Given the description of an element on the screen output the (x, y) to click on. 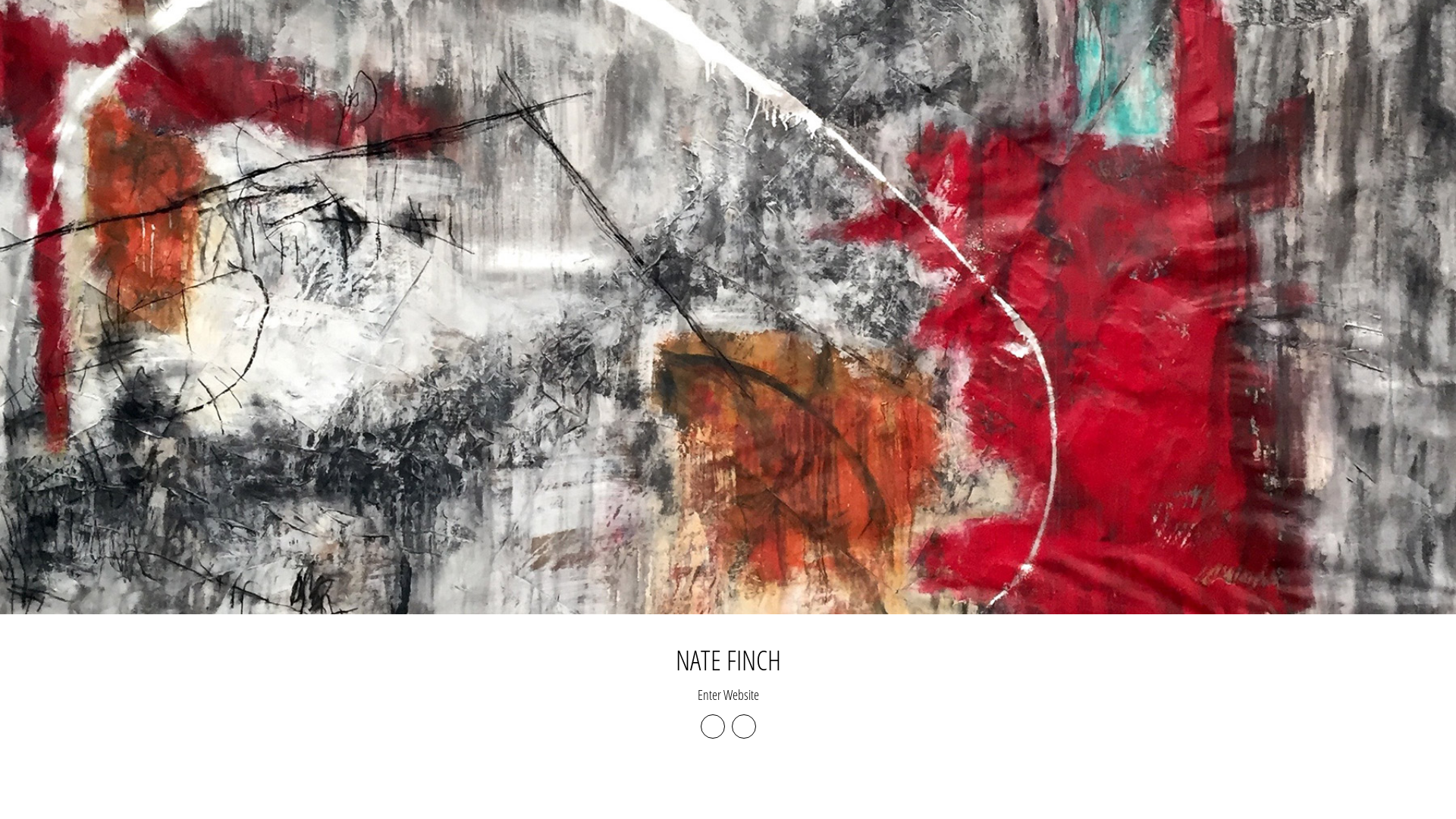
Enter Website Element type: text (728, 694)
